Given the description of an element on the screen output the (x, y) to click on. 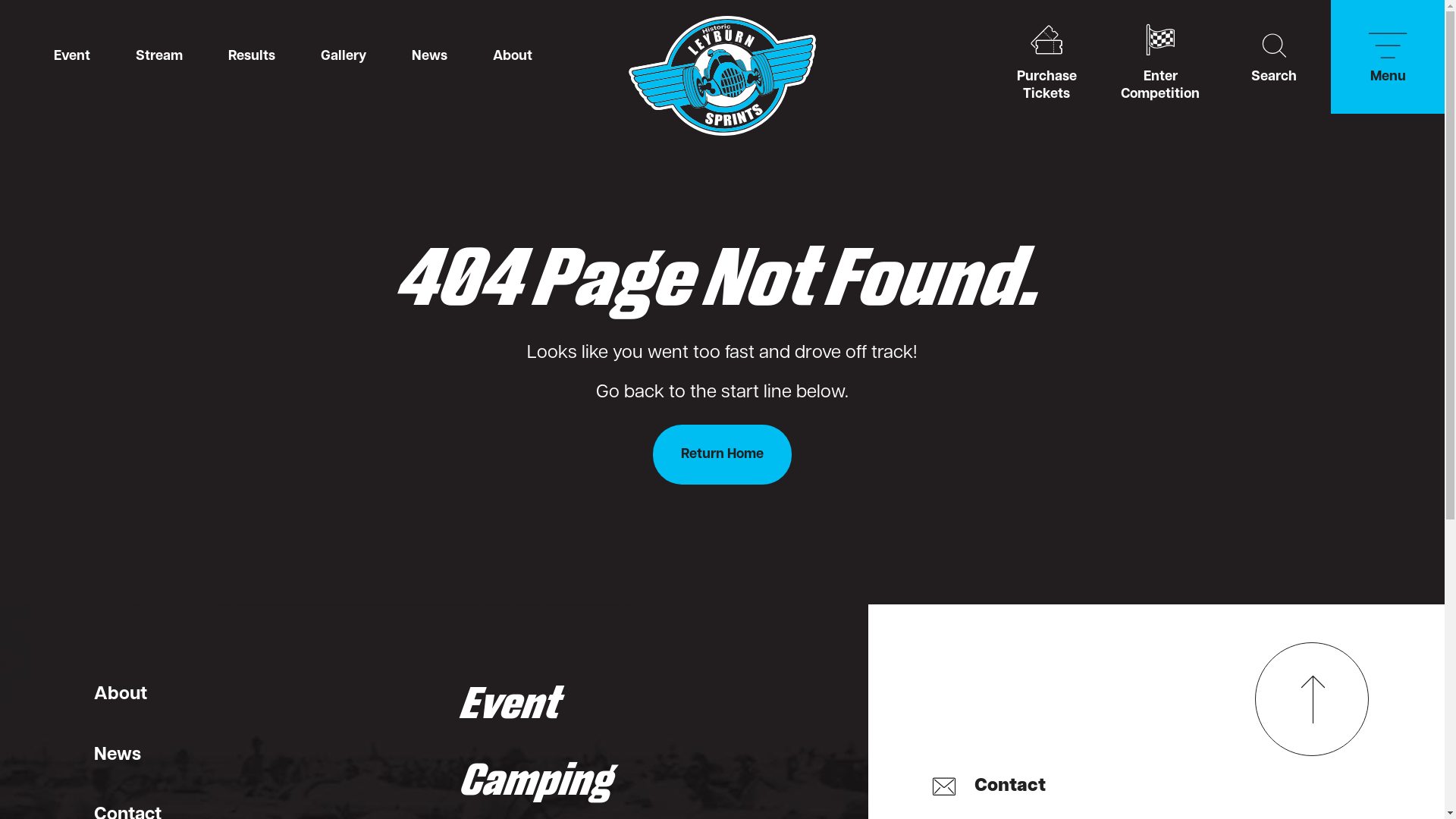
Search Element type: text (1273, 56)
About Element type: text (137, 695)
Leyburn Sprints Element type: hover (721, 75)
Purchase Tickets Element type: text (1046, 56)
Camping Element type: text (537, 779)
Return Home Element type: text (721, 454)
Event Element type: text (71, 56)
Enter Competition Element type: text (1160, 56)
News Element type: text (137, 755)
Gallery Element type: text (343, 56)
Contact Element type: text (988, 786)
About Element type: text (512, 56)
Results Element type: text (251, 56)
Stream Element type: text (158, 56)
Event Element type: text (537, 703)
Menu Element type: text (1387, 56)
News Element type: text (429, 56)
